Given the description of an element on the screen output the (x, y) to click on. 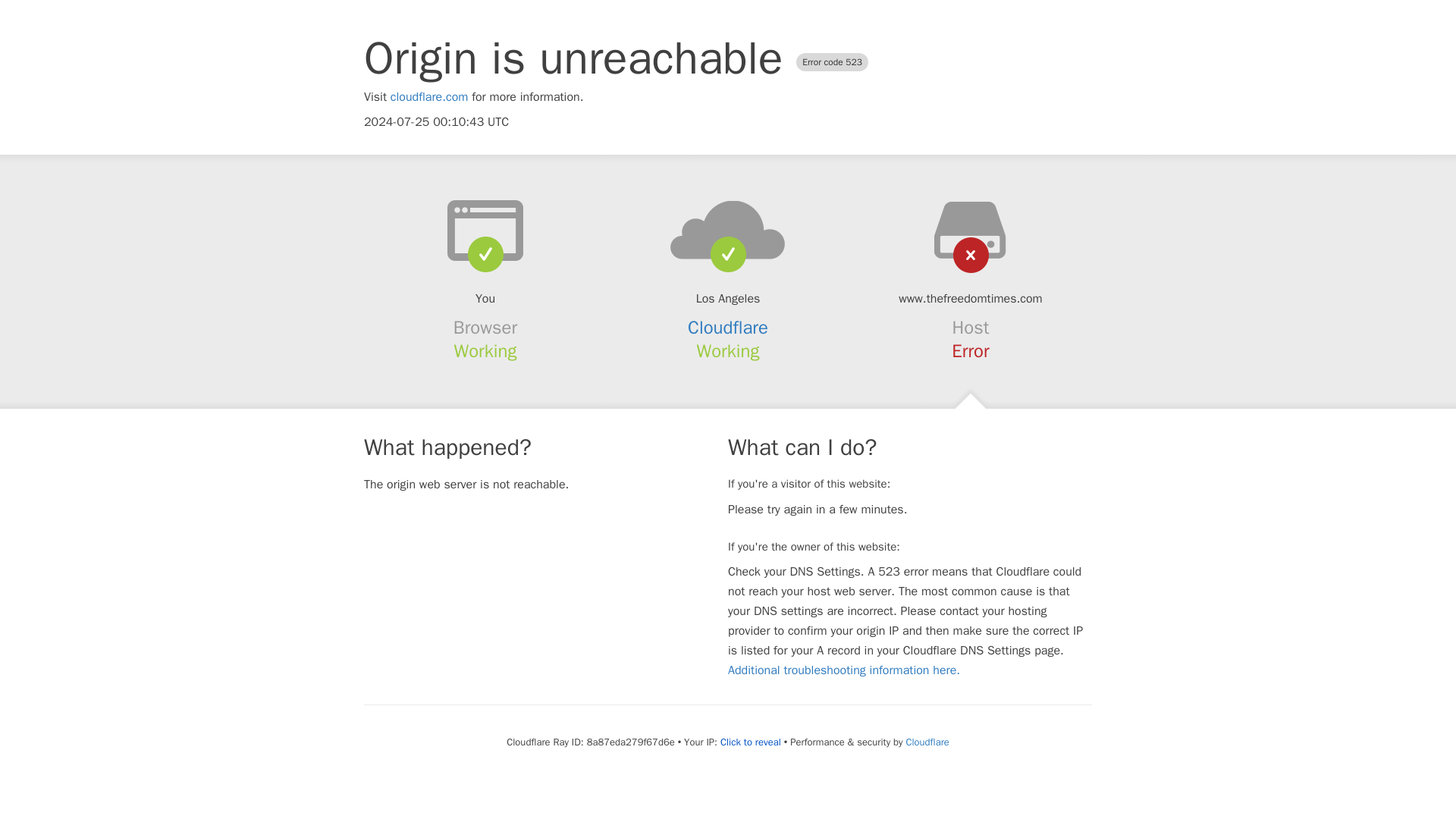
Cloudflare (927, 741)
Cloudflare (727, 327)
cloudflare.com (429, 96)
Additional troubleshooting information here. (843, 670)
Click to reveal (750, 742)
